Given the description of an element on the screen output the (x, y) to click on. 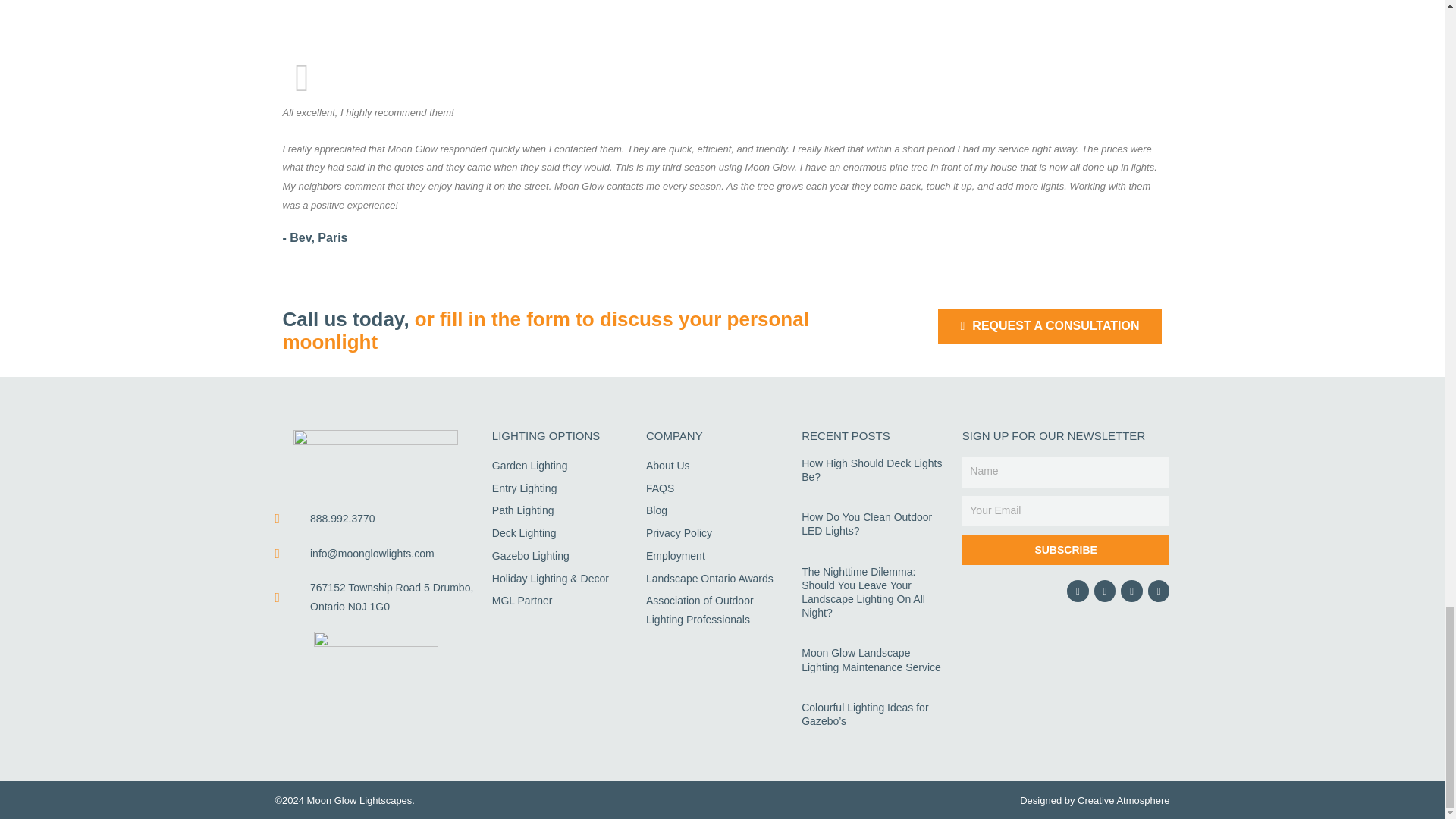
Garden Lighting (561, 465)
REQUEST A CONSULTATION (1049, 325)
Entry Lighting (561, 488)
